Given the description of an element on the screen output the (x, y) to click on. 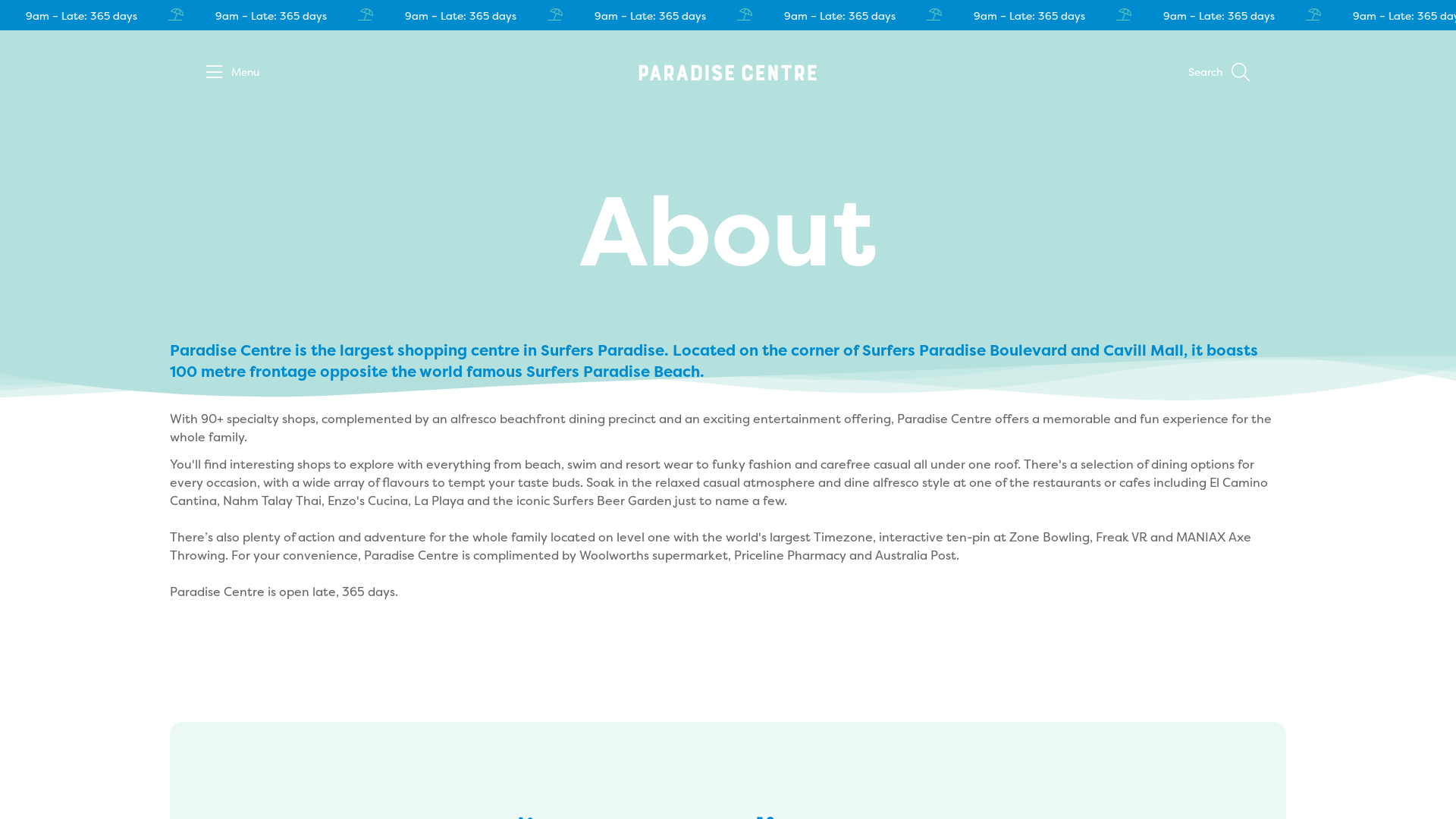
Search Element type: text (1218, 72)
Menu Element type: text (232, 72)
